Given the description of an element on the screen output the (x, y) to click on. 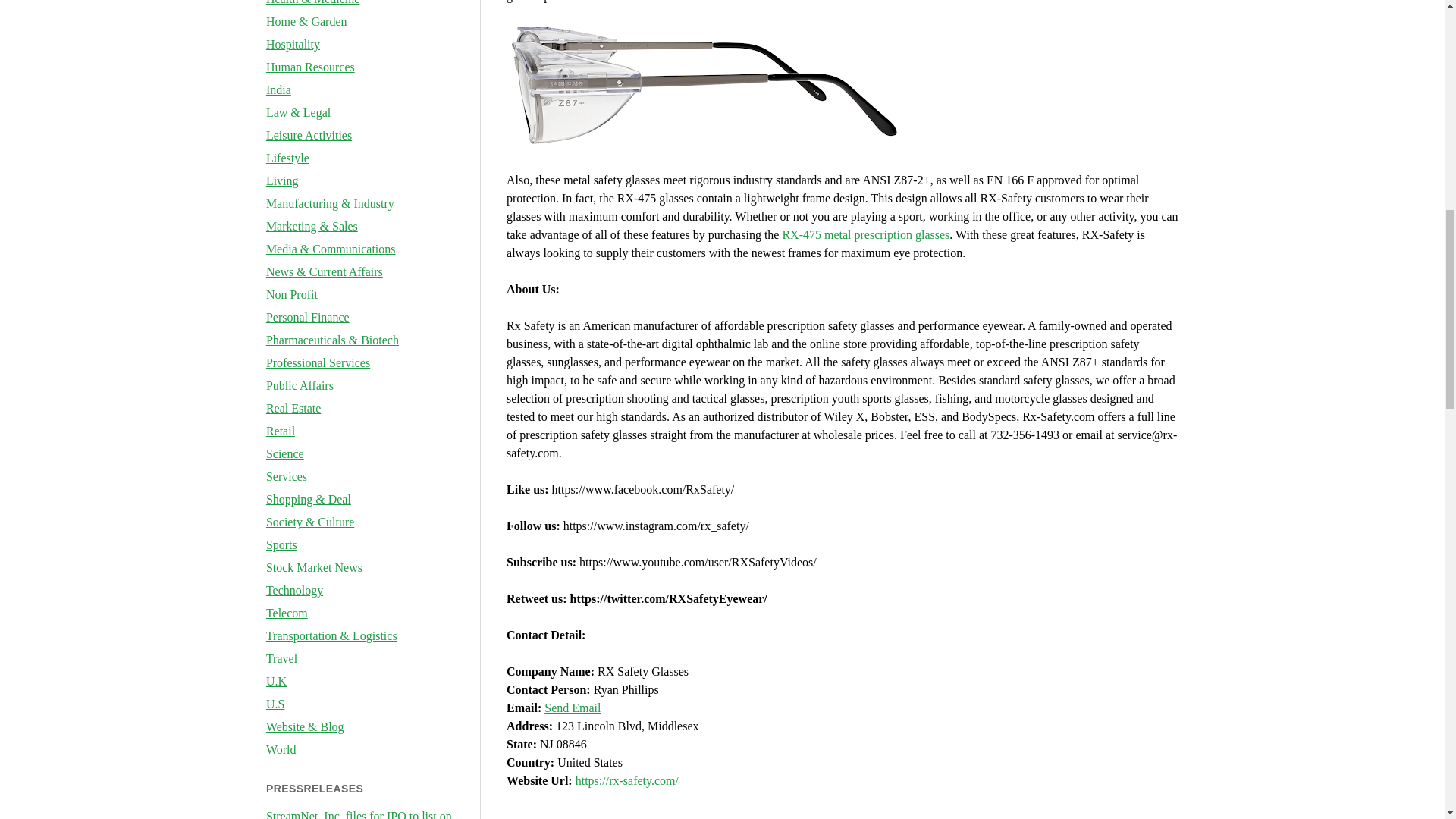
India (278, 89)
Living (282, 180)
Leisure Activities (309, 134)
Human Resources (310, 66)
Hospitality (293, 43)
Lifestyle (287, 157)
